Given the description of an element on the screen output the (x, y) to click on. 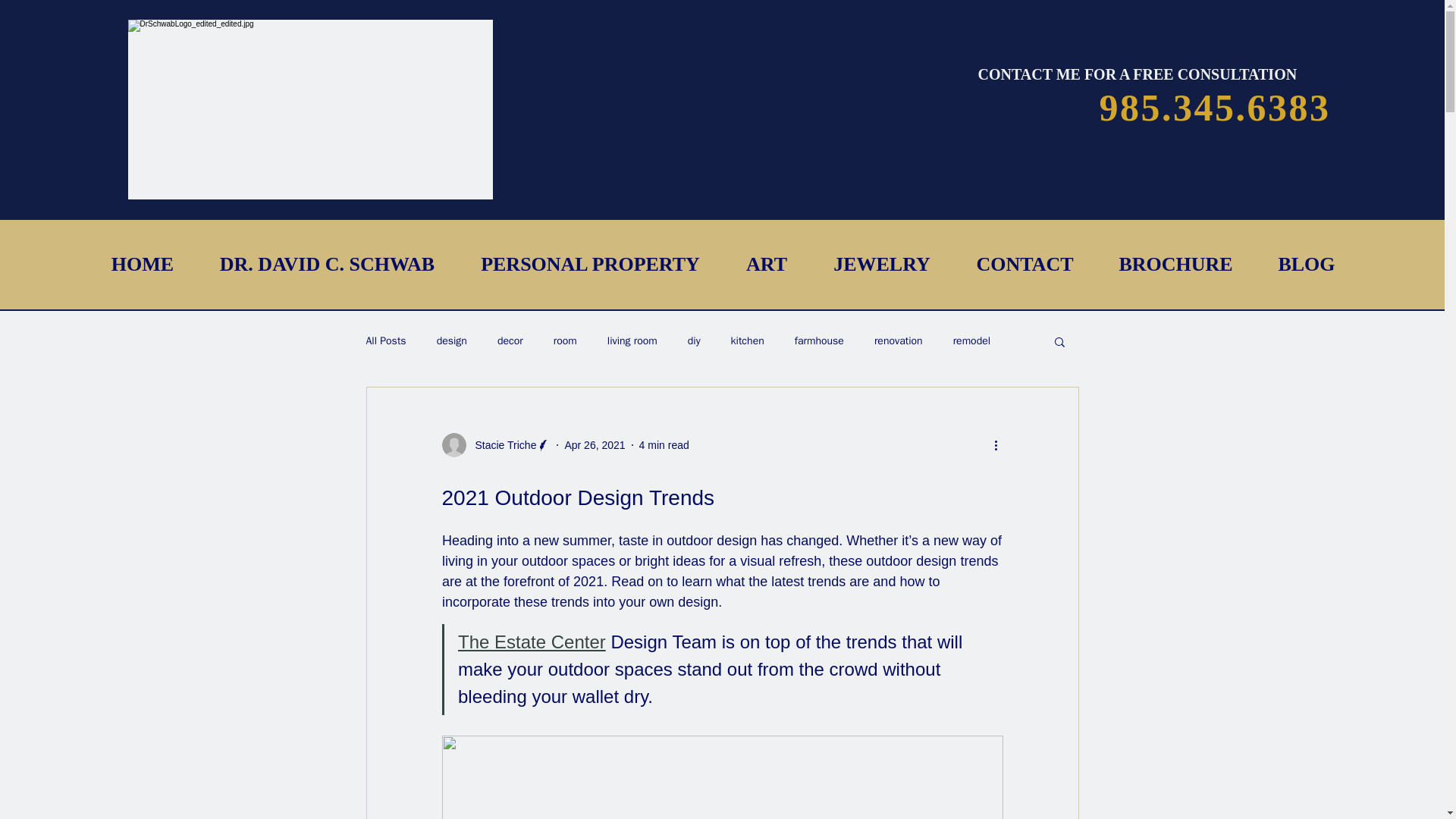
BLOG (1306, 264)
PERSONAL PROPERTY (590, 264)
remodel (971, 341)
room (564, 341)
CONTACT (1024, 264)
living room (632, 341)
Stacie Triche (495, 445)
HOME (141, 264)
Stacie Triche (500, 444)
decor (509, 341)
